Given the description of an element on the screen output the (x, y) to click on. 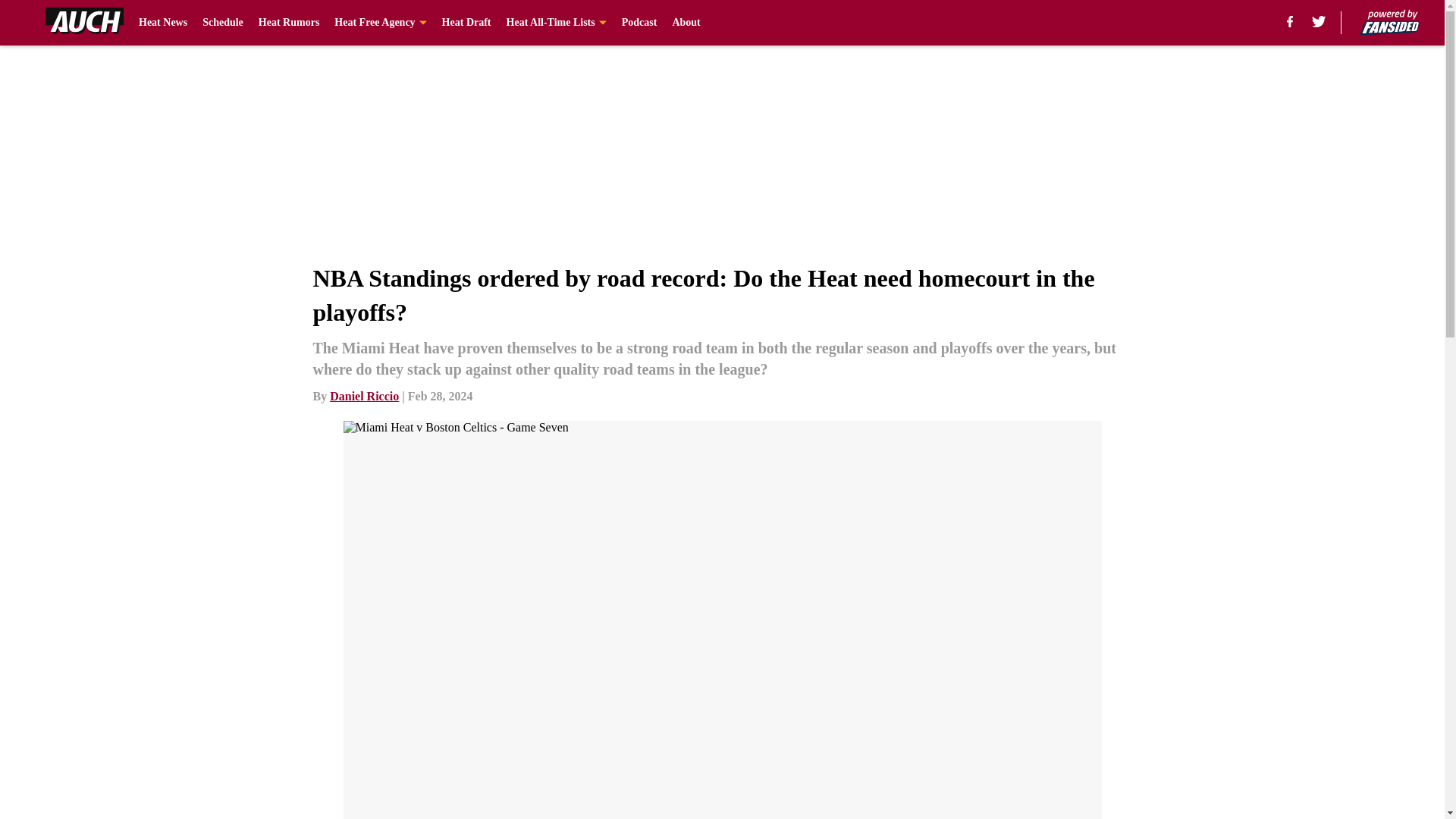
Podcast (639, 22)
Daniel Riccio (364, 395)
Heat Rumors (289, 22)
Heat Draft (467, 22)
Heat News (162, 22)
About (685, 22)
Schedule (222, 22)
